Given the description of an element on the screen output the (x, y) to click on. 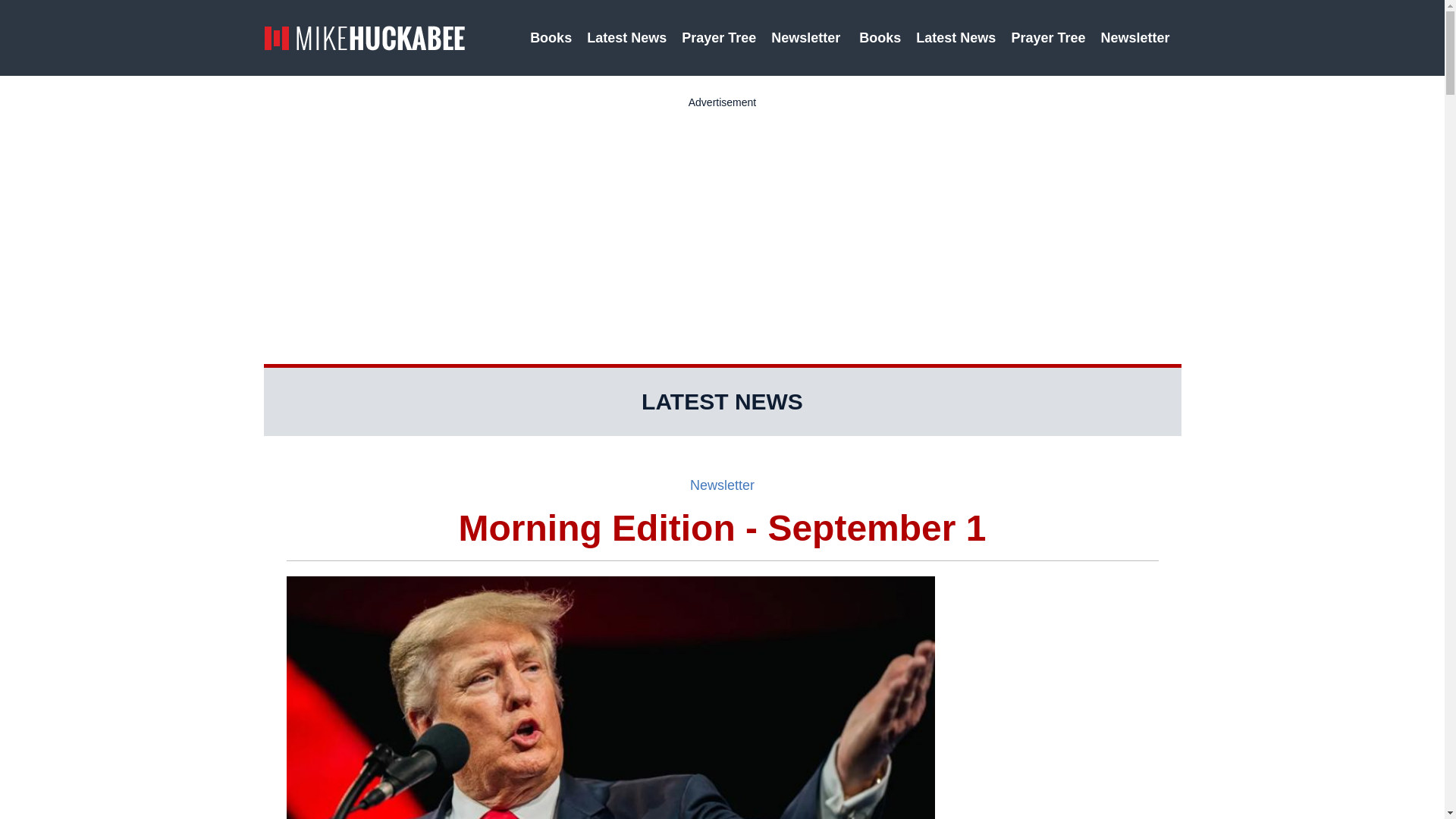
Latest News (626, 38)
Morning Edition - September 1 (722, 528)
Prayer Tree (1048, 38)
Newsletter (1136, 38)
Newsletter (806, 38)
Latest News (955, 38)
Prayer Tree (718, 38)
Newsletter (722, 485)
